Given the description of an element on the screen output the (x, y) to click on. 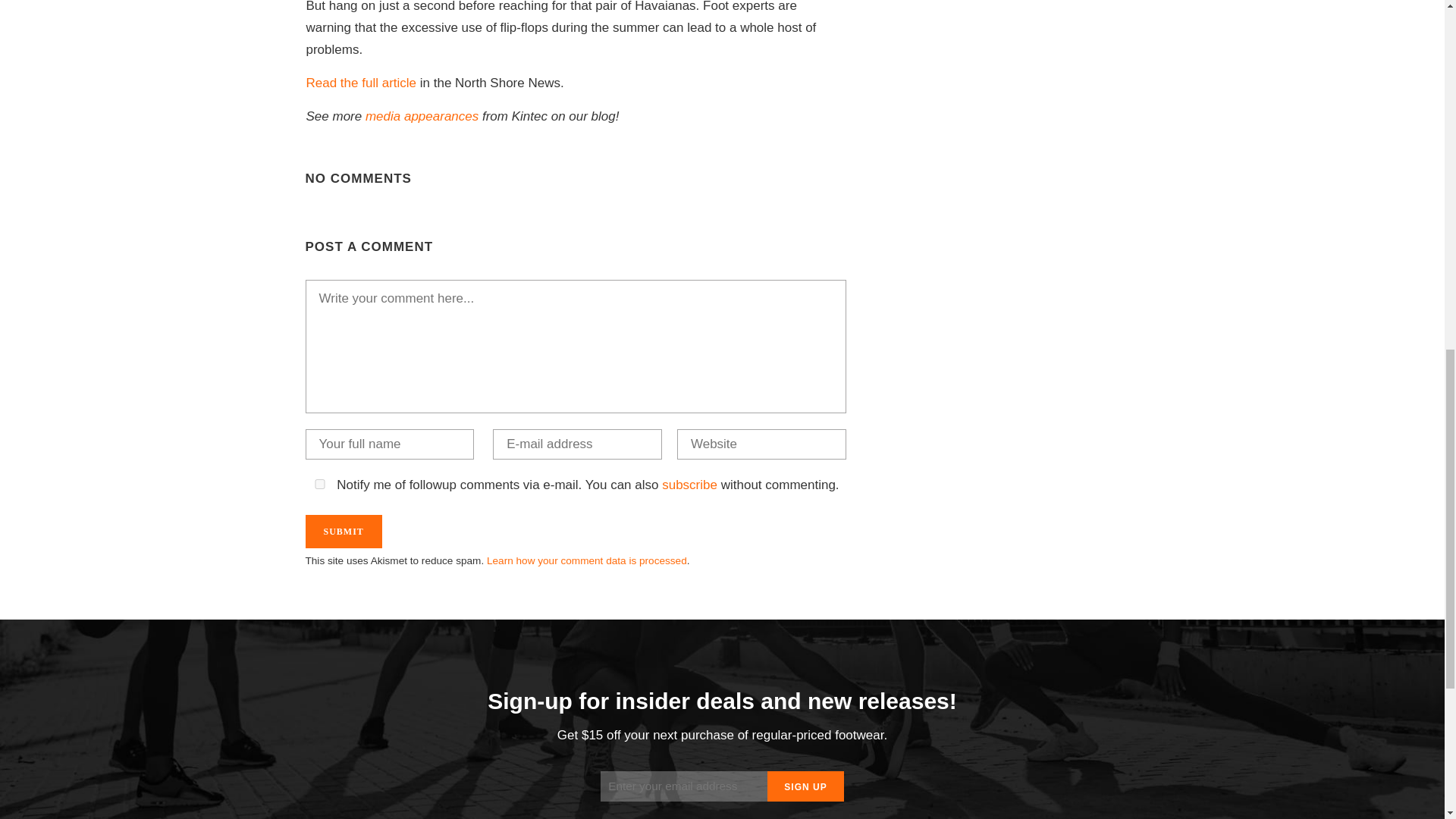
Learn how your comment data is processed (586, 560)
media appearances (422, 115)
Submit (342, 531)
Sign up (805, 786)
Read the full article (360, 83)
subscribe (689, 484)
yes (318, 483)
Submit (342, 531)
